Given the description of an element on the screen output the (x, y) to click on. 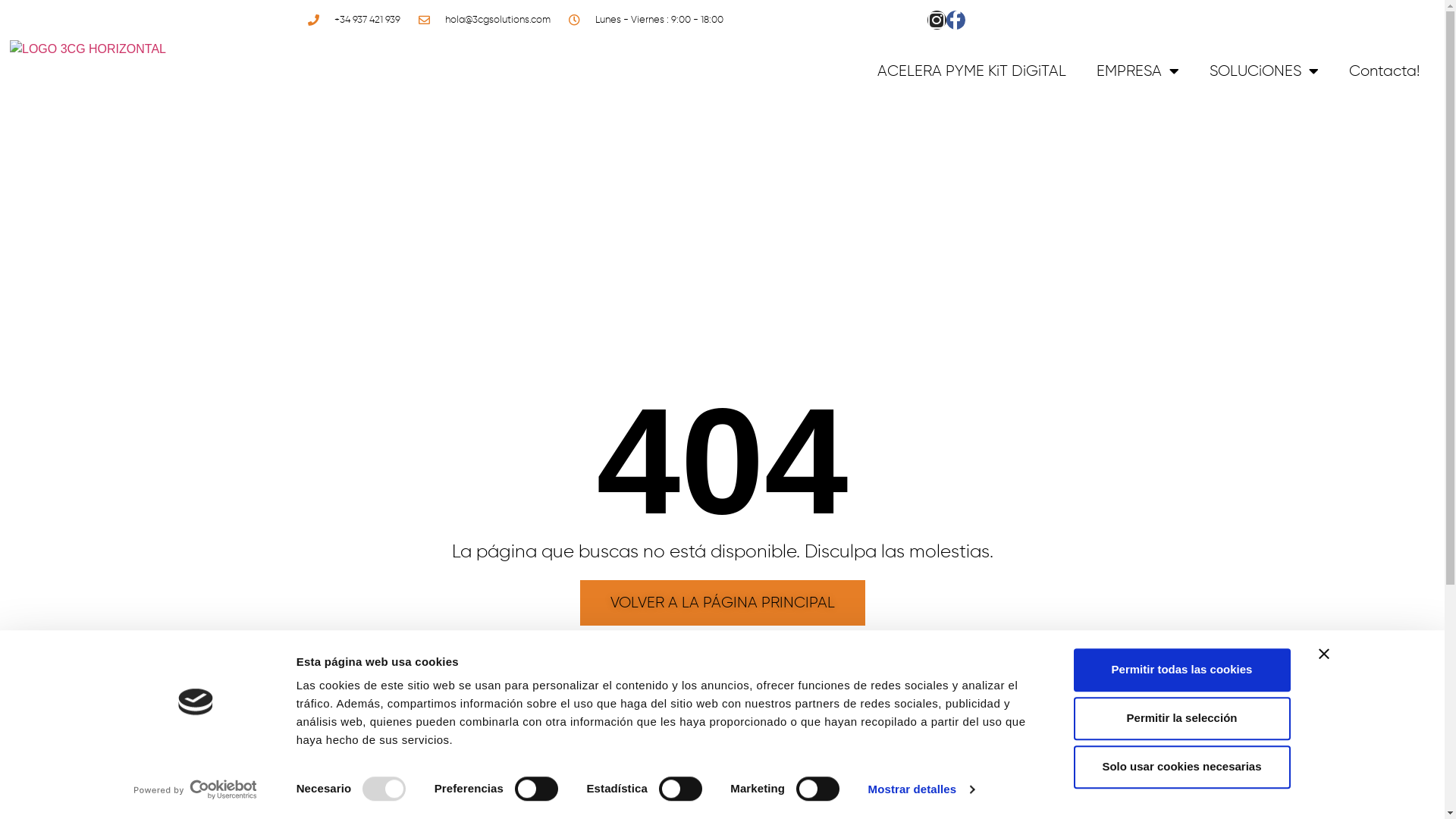
Solo usar cookies necesarias Element type: text (1181, 766)
ACELERA PYME KiT DiGiTAL Element type: text (971, 70)
SOLUCiONES Element type: text (1263, 70)
+34 937 421 939 Element type: text (352, 20)
Contacta! Element type: text (1383, 70)
Mostrar detalles Element type: text (921, 789)
hola@3cgsolutions.com Element type: text (482, 20)
Permitir todas las cookies Element type: text (1181, 669)
EMPRESA Element type: text (1137, 70)
